Given the description of an element on the screen output the (x, y) to click on. 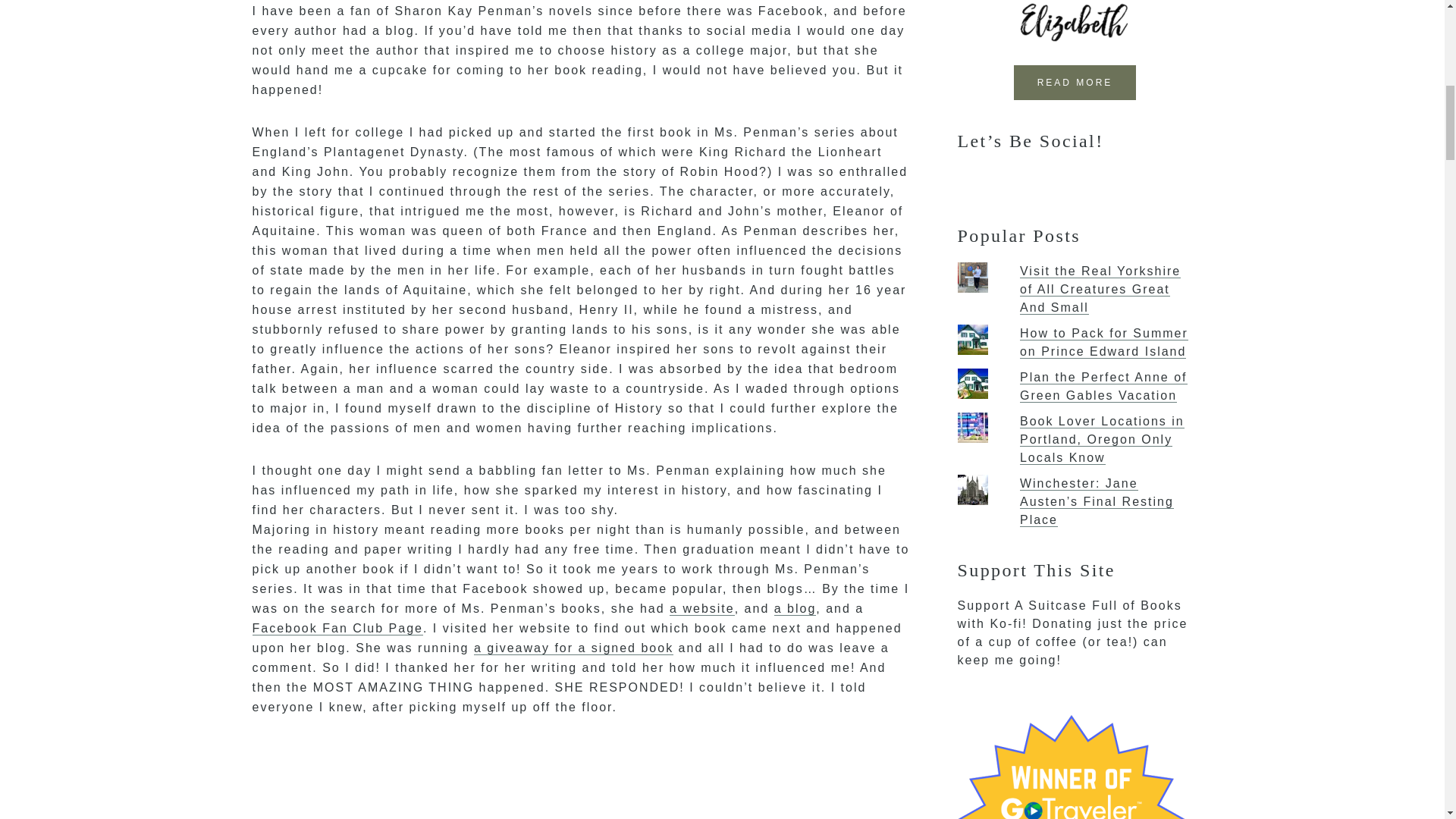
How to Pack for Summer on Prince Edward Island (1104, 342)
Book Lover Locations in Portland, Oregon Only Locals Know (1102, 439)
a website (702, 608)
Visit the Real Yorkshire of All Creatures Great And Small (1100, 289)
a giveaway for a signed book (573, 648)
Plan the Perfect Anne of Green Gables Vacation (1104, 386)
Facebook Fan Club Page (336, 628)
a blog (795, 608)
